Given the description of an element on the screen output the (x, y) to click on. 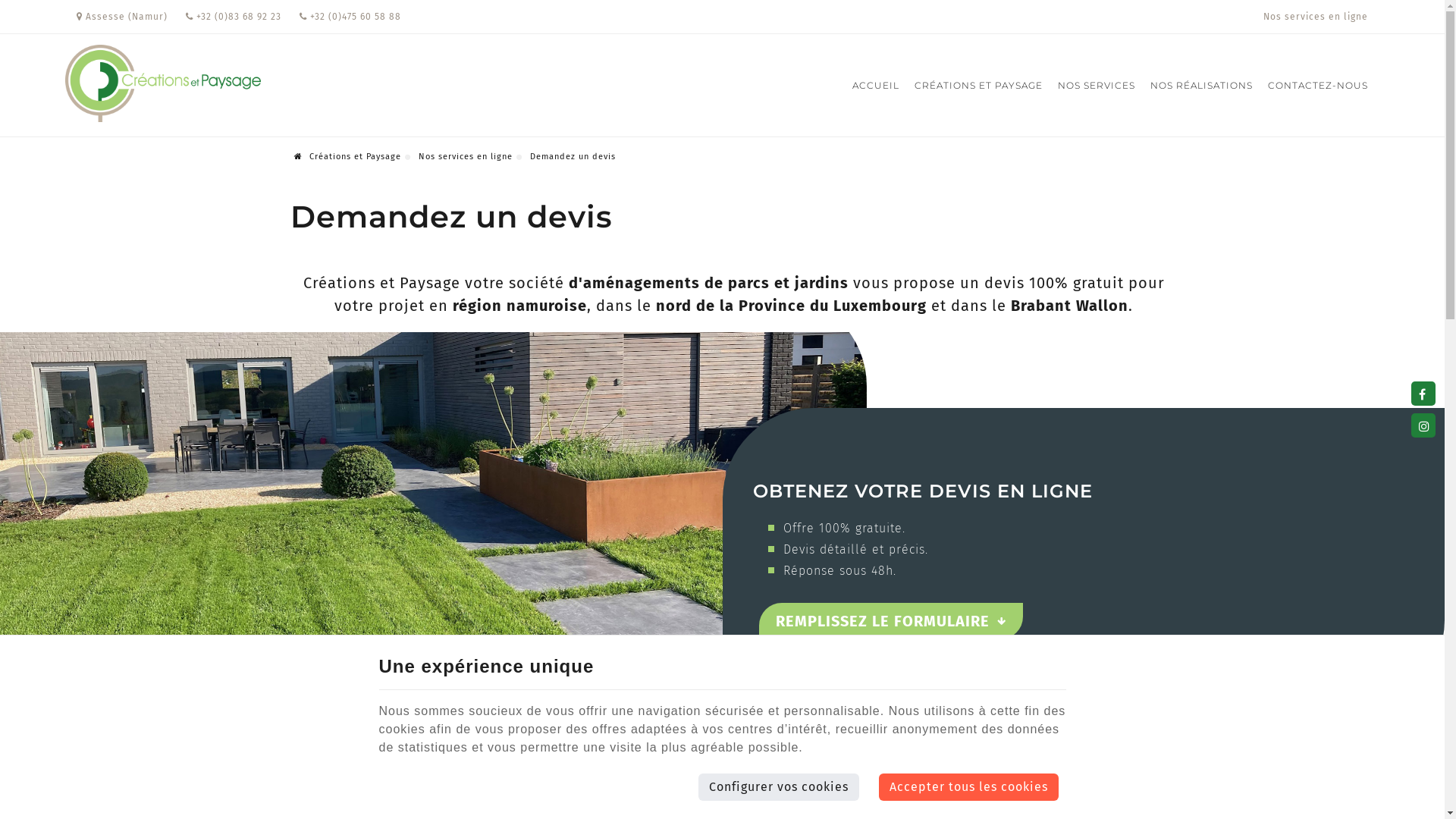
Configurer vos cookies Element type: text (778, 786)
Nos services en ligne Element type: text (465, 156)
Accepter tous les cookies Element type: text (968, 786)
+32 (0)475 60 58 88 Element type: text (350, 16)
Nos services en ligne Element type: text (1315, 16)
CONTACTEZ-NOUS Element type: text (1314, 85)
+32 (0)83 68 92 23 Element type: text (233, 16)
ACCUEIL Element type: text (875, 85)
REMPLISSEZ LE FORMULAIRE Element type: text (890, 620)
NOS SERVICES Element type: text (1096, 85)
Assesse (Namur) Element type: text (121, 16)
